Given the description of an element on the screen output the (x, y) to click on. 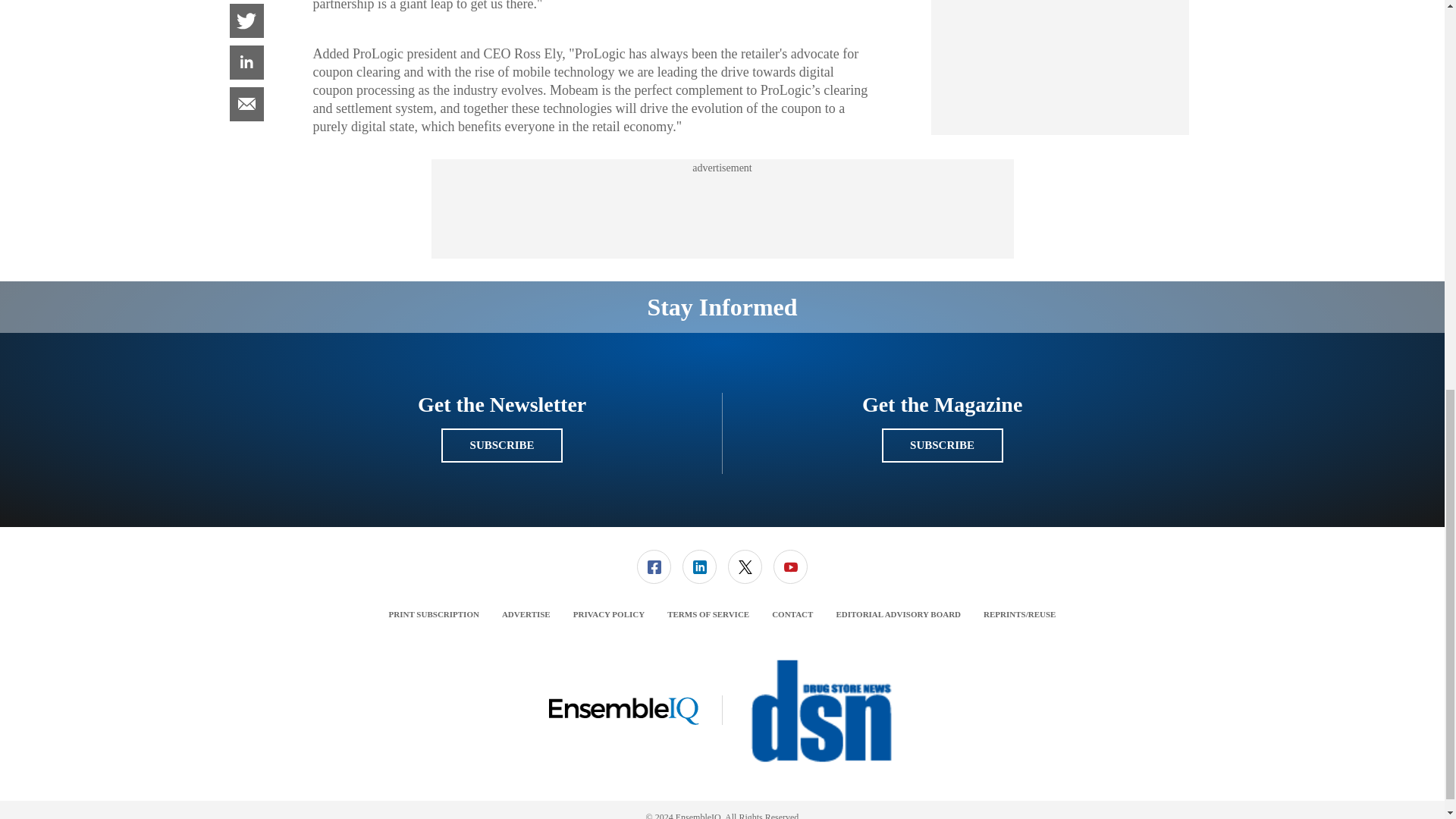
SUBSCRIBE (501, 445)
3rd party ad content (721, 209)
SUBSCRIBE (942, 445)
3rd party ad content (1059, 33)
